Given the description of an element on the screen output the (x, y) to click on. 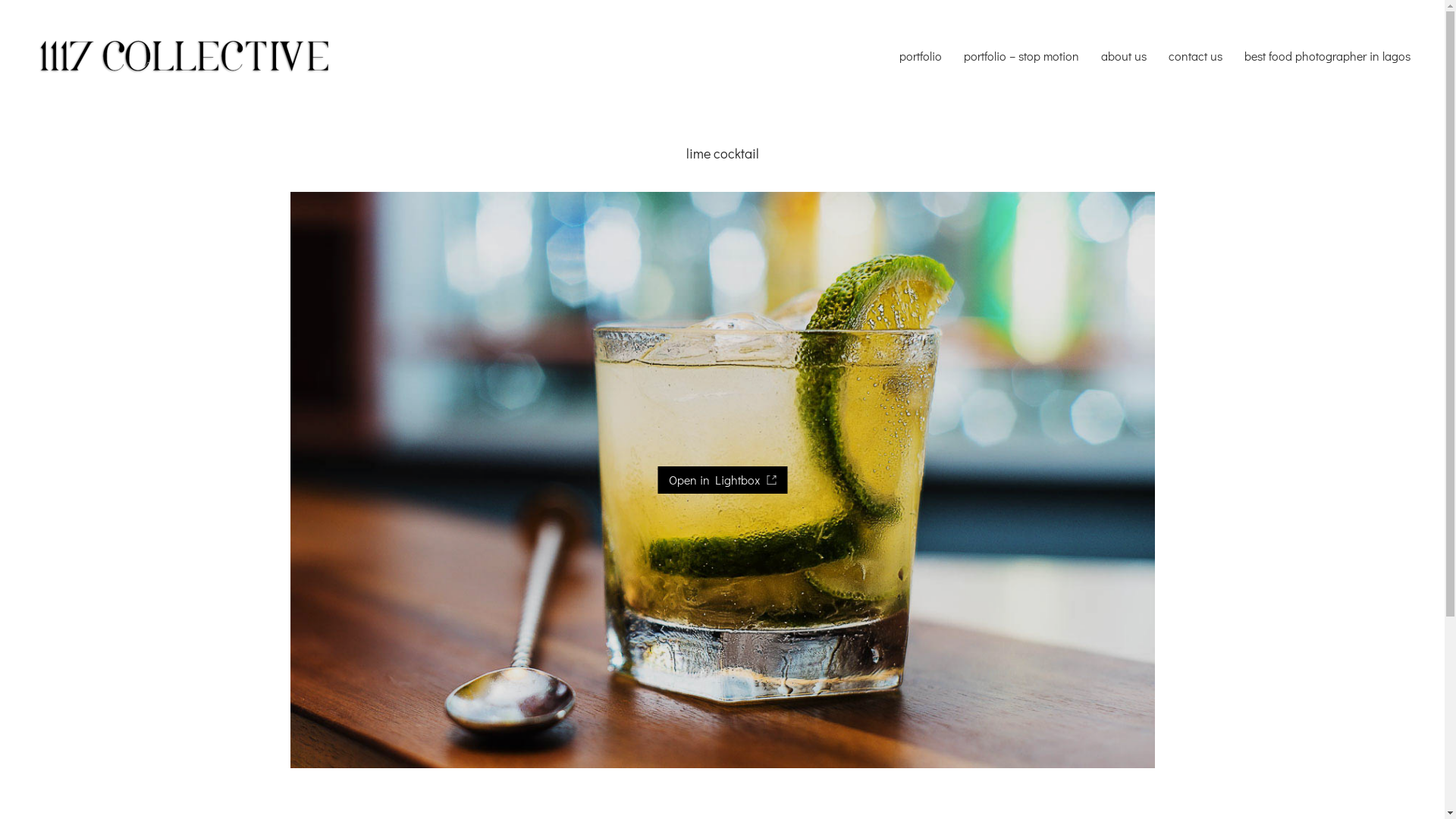
about us Element type: text (1123, 55)
portfolio Element type: text (920, 55)
best food photographer in lagos Element type: text (1327, 55)
contact us Element type: text (1195, 55)
Open in Lightbox Element type: text (721, 479)
